Given the description of an element on the screen output the (x, y) to click on. 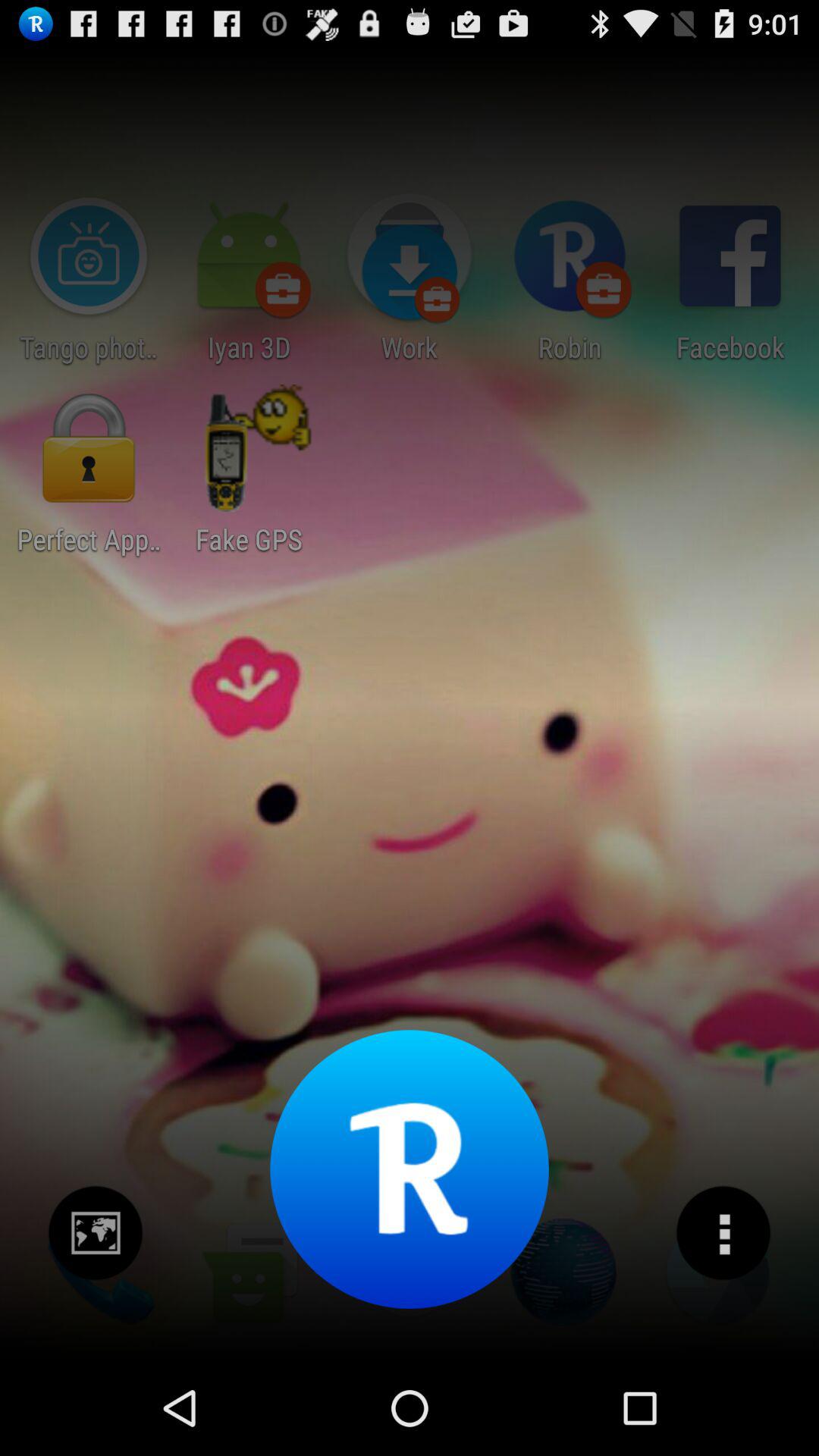
opens an options menu (723, 1232)
